Given the description of an element on the screen output the (x, y) to click on. 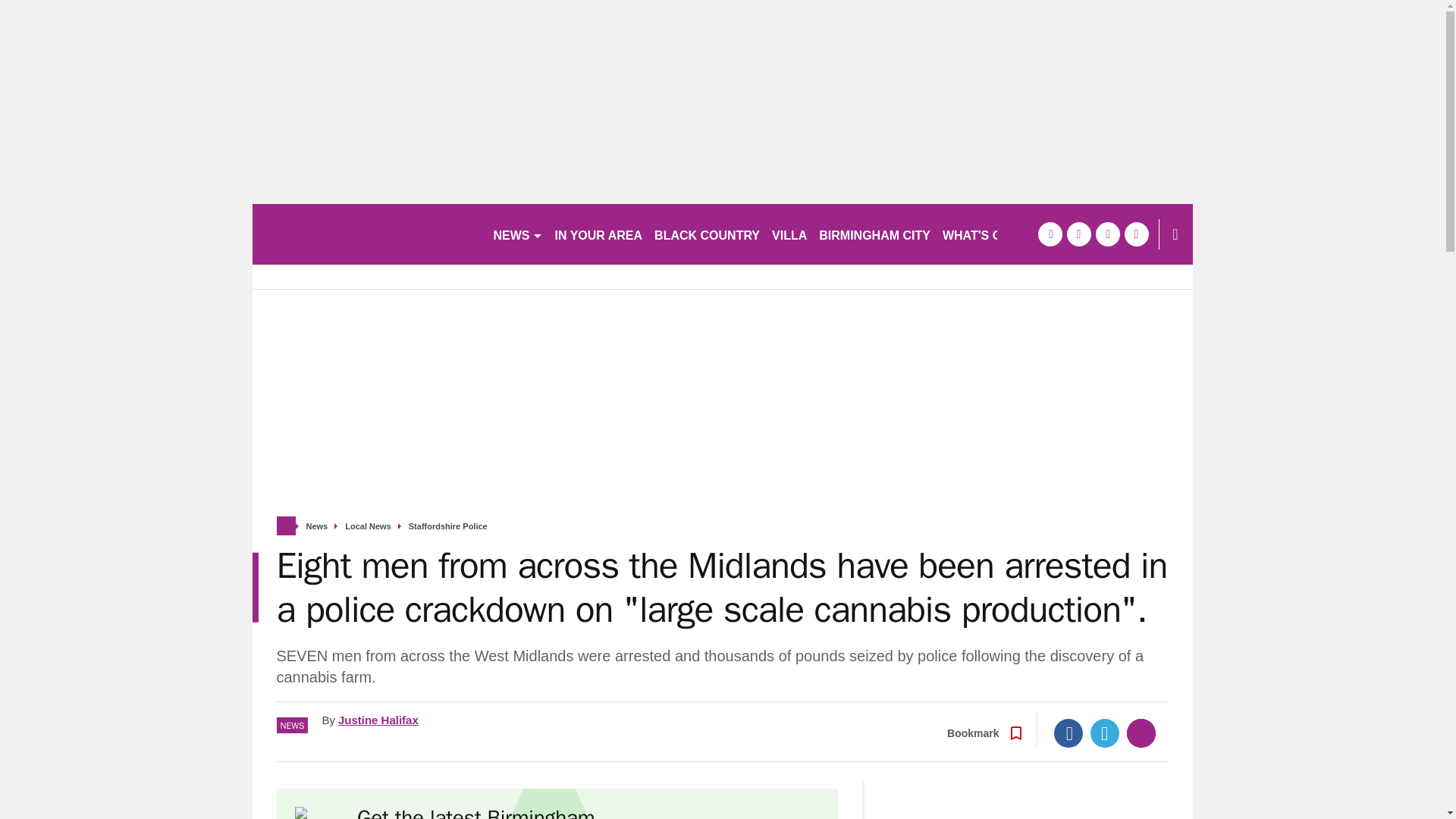
Twitter (1104, 733)
WHAT'S ON (982, 233)
instagram (1136, 233)
BIRMINGHAM CITY (874, 233)
VILLA (788, 233)
IN YOUR AREA (598, 233)
twitter (1077, 233)
facebook (1048, 233)
Facebook (1068, 733)
birminghammail (365, 233)
BLACK COUNTRY (706, 233)
tiktok (1106, 233)
NEWS (517, 233)
